Given the description of an element on the screen output the (x, y) to click on. 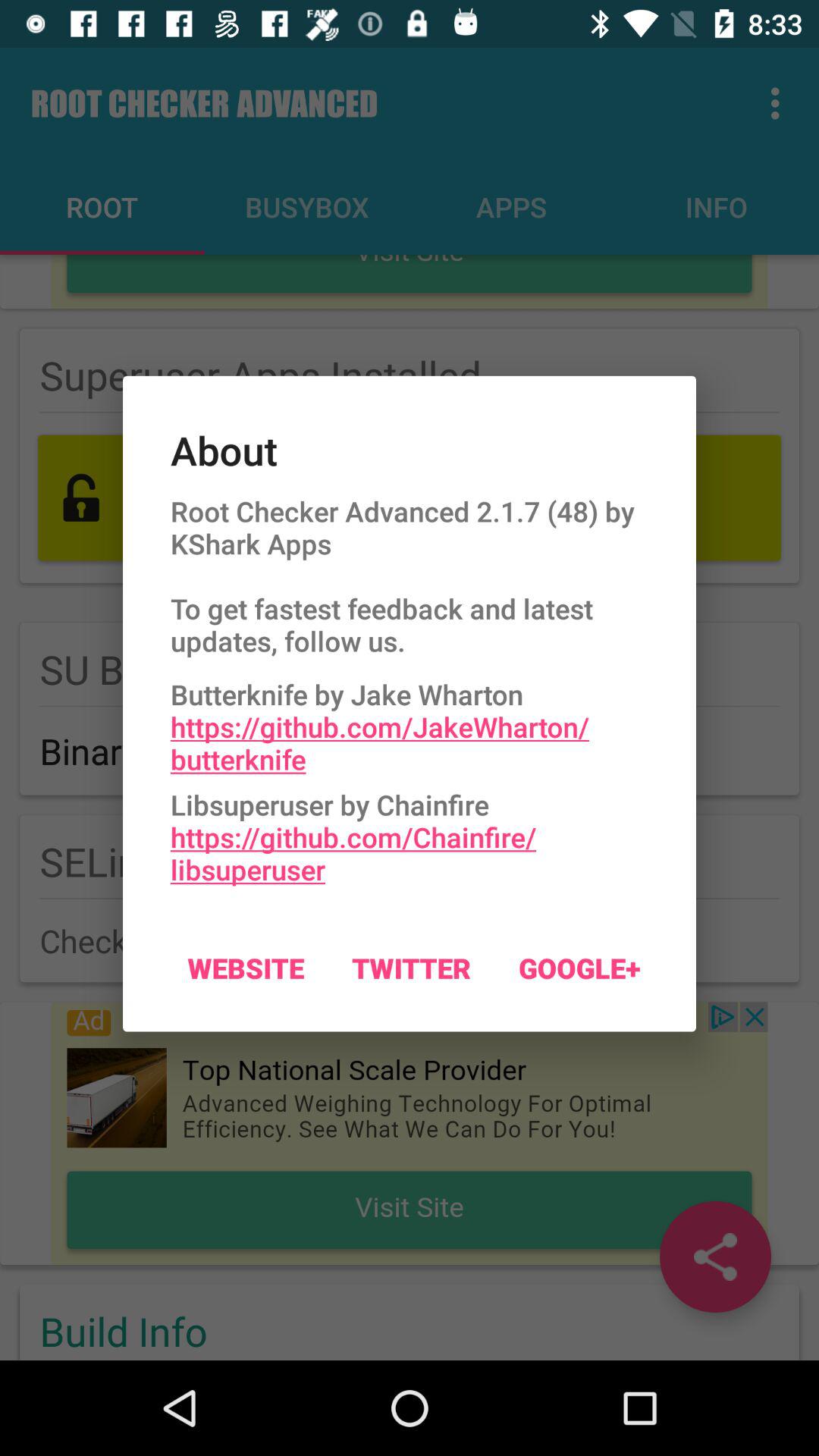
select the item on the right (579, 967)
